Given the description of an element on the screen output the (x, y) to click on. 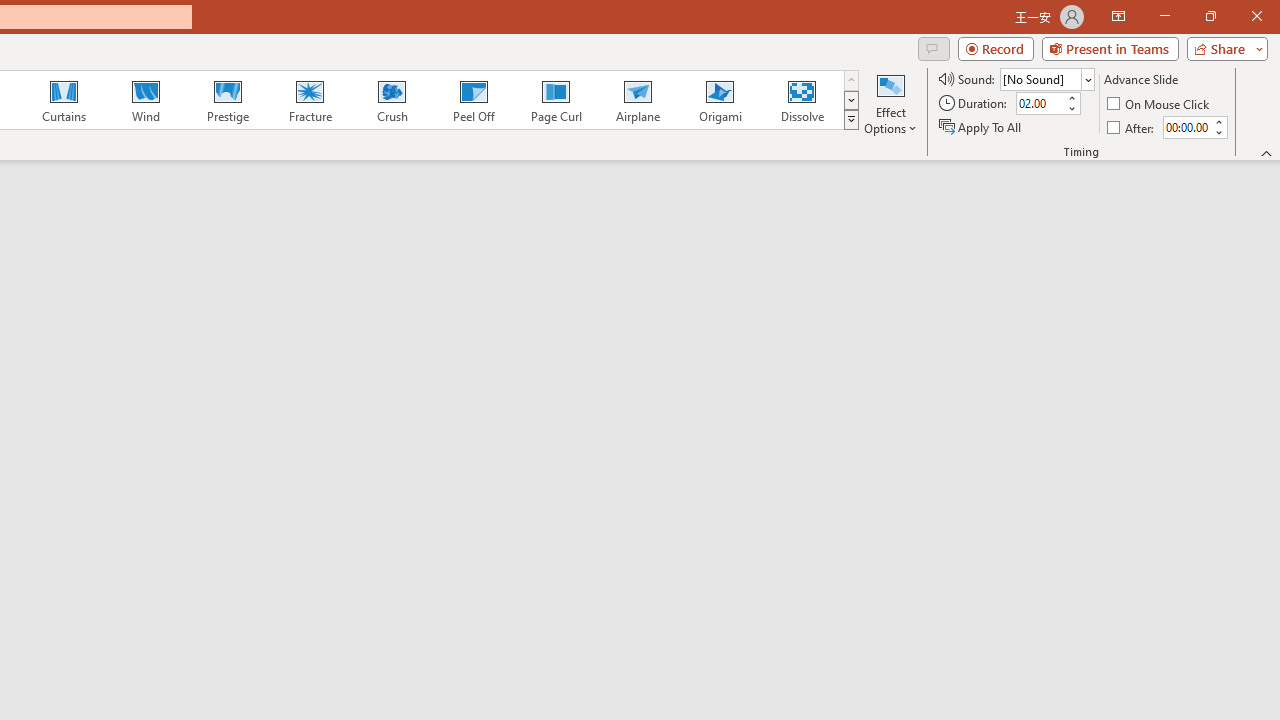
Airplane (637, 100)
Peel Off (473, 100)
